Given the description of an element on the screen output the (x, y) to click on. 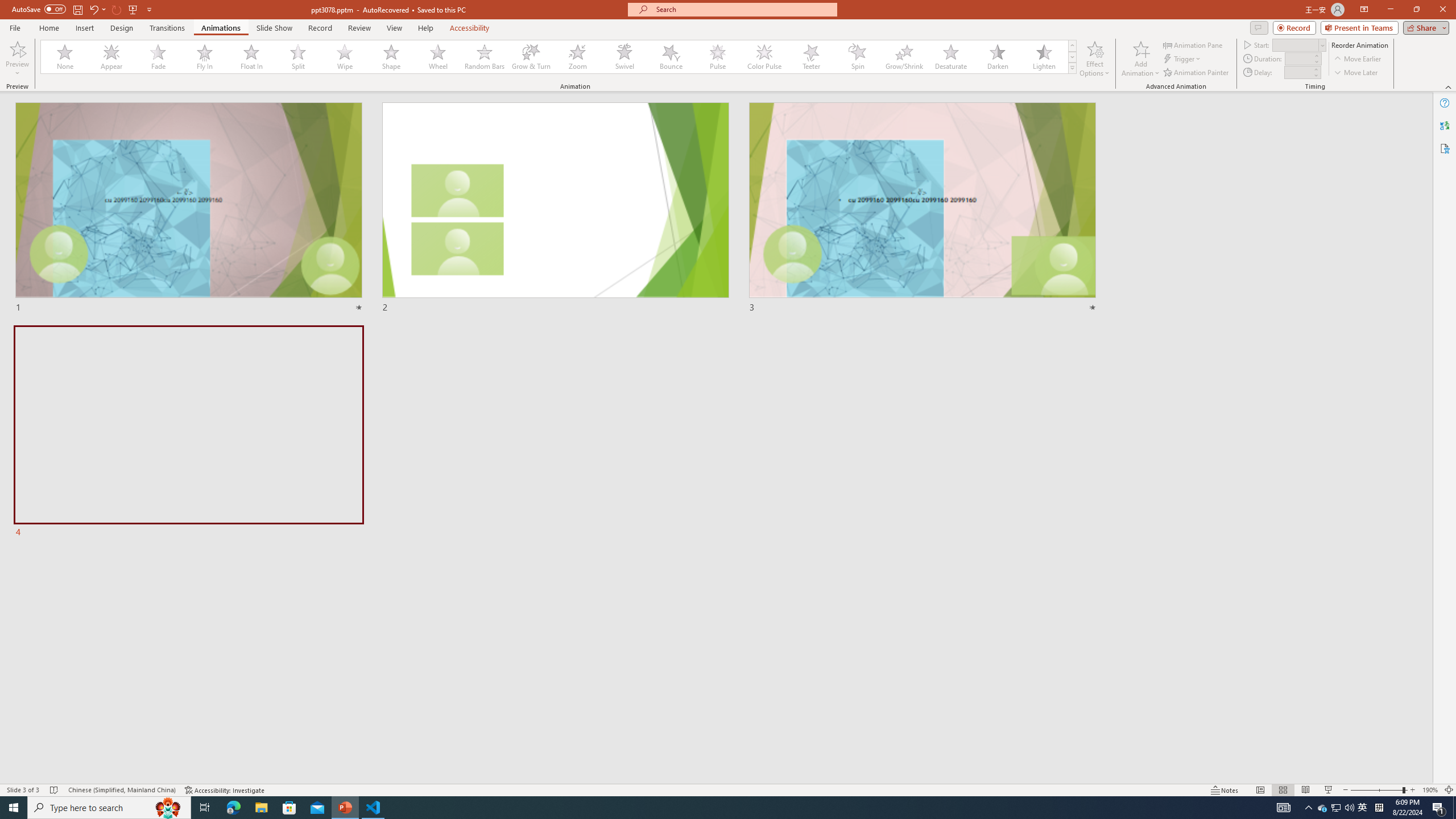
Color Pulse (764, 56)
Grow/Shrink (903, 56)
Teeter (810, 56)
